Given the description of an element on the screen output the (x, y) to click on. 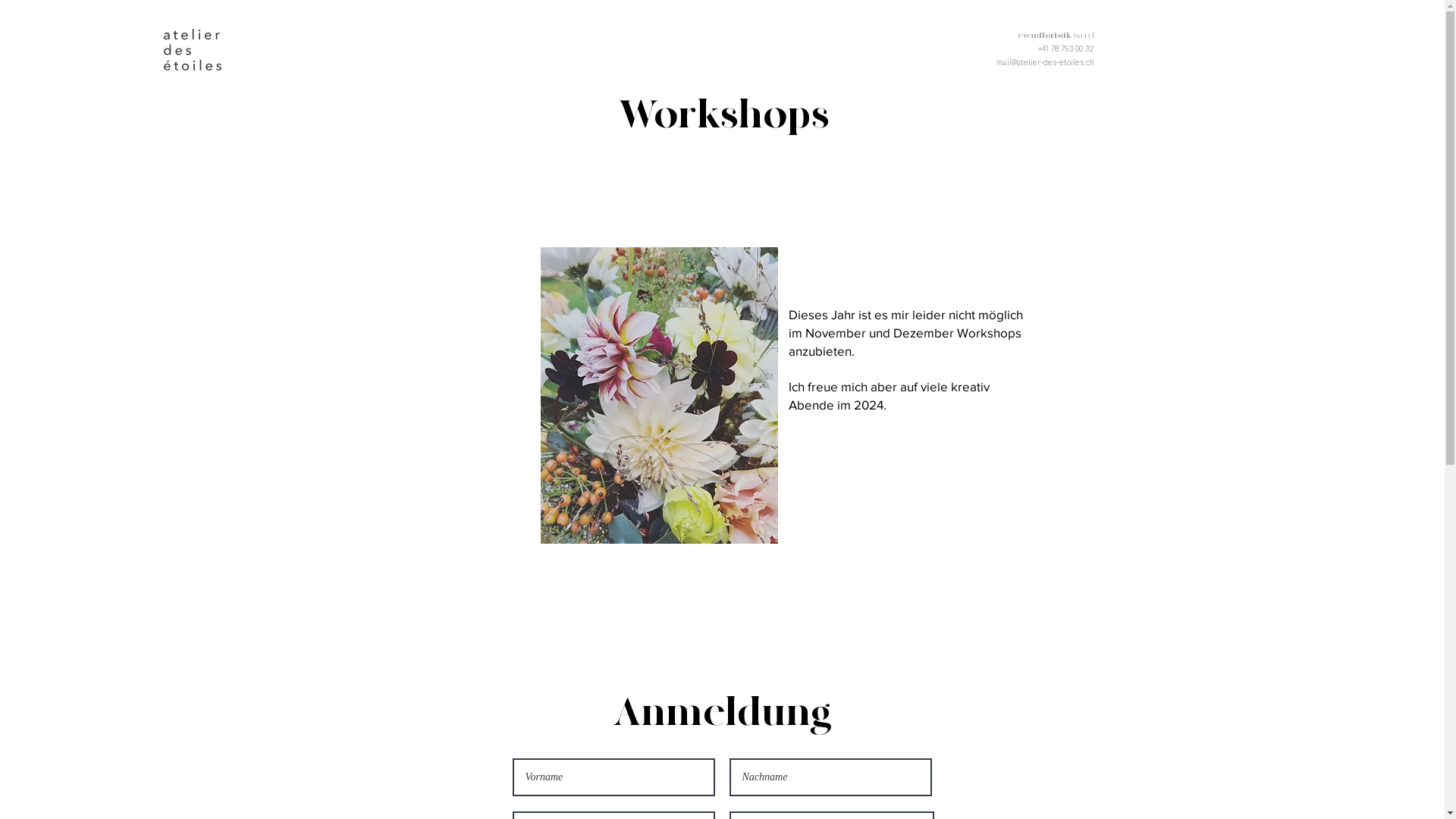
mail@atelier-des-etoiles.ch Element type: text (1045, 62)
BCA51FBF-249B-455E-B270-0011DB775C33.JPG Element type: hover (658, 395)
